Given the description of an element on the screen output the (x, y) to click on. 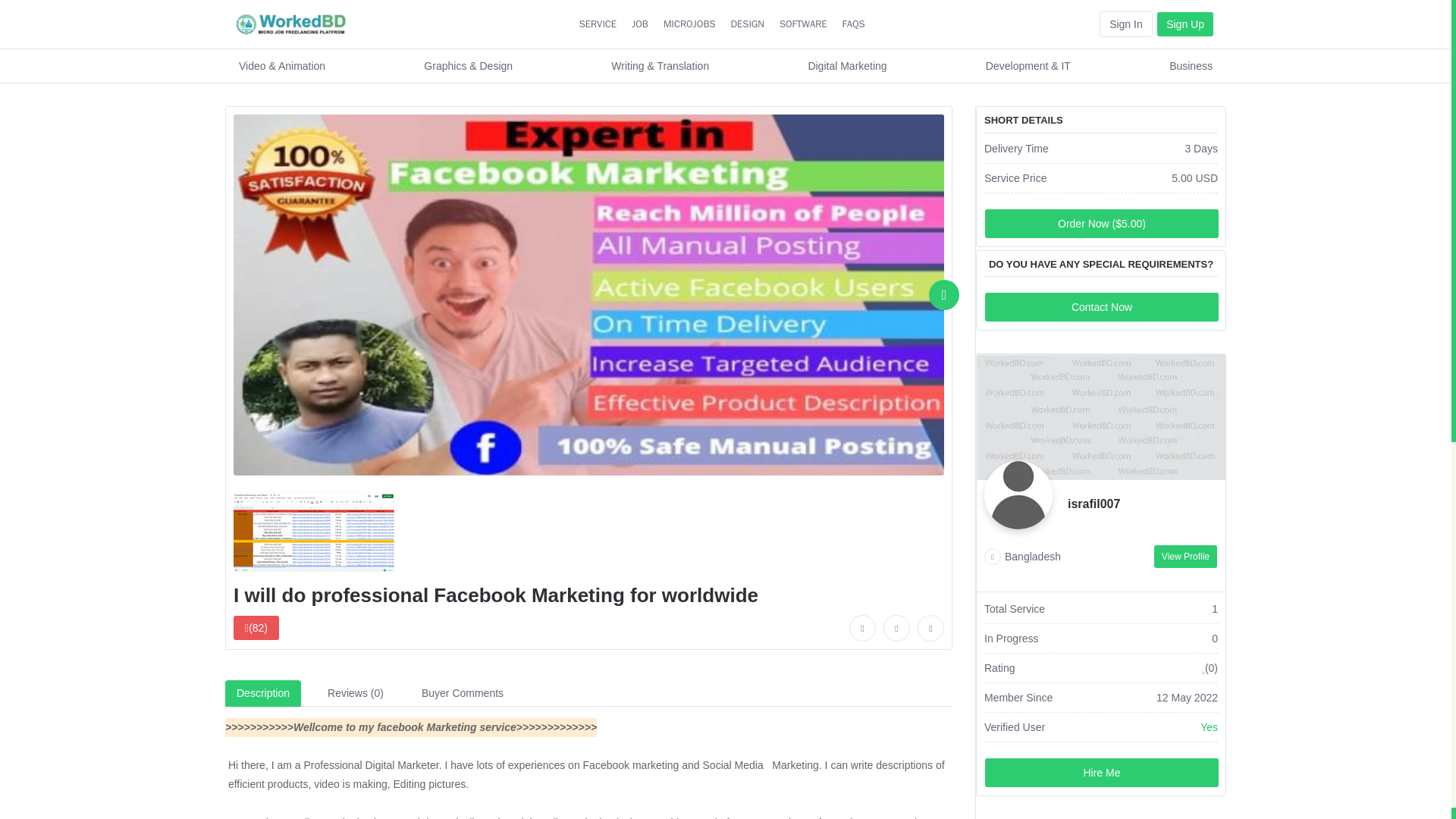
Sign Up (1184, 24)
Digital Marketing (847, 65)
SERVICE (597, 24)
SOFTWARE (802, 24)
FAQS (853, 24)
DESIGN (746, 24)
Sign In (1126, 23)
JOB (639, 24)
MICROJOBS (689, 24)
